Given the description of an element on the screen output the (x, y) to click on. 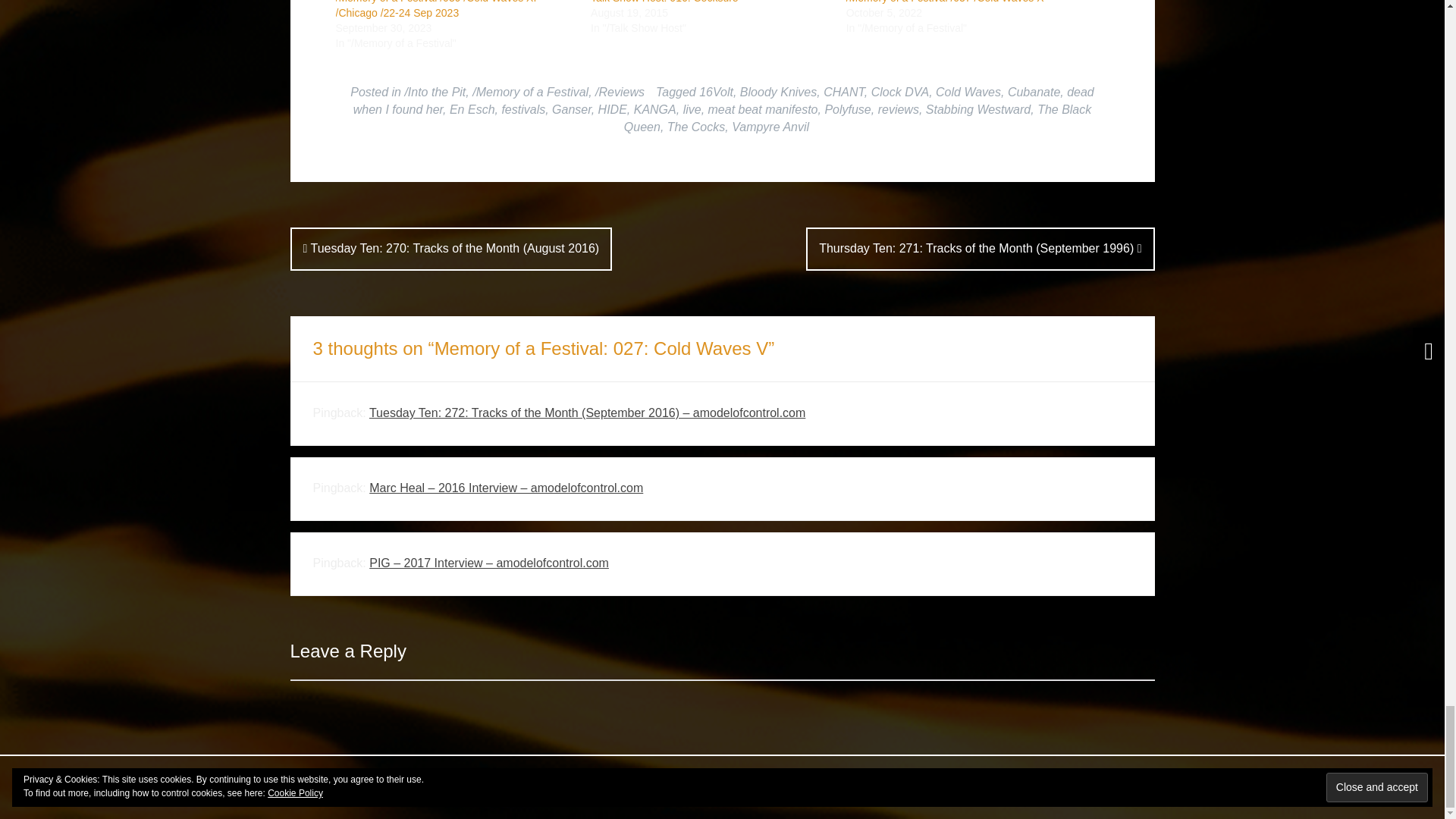
 Back to top (1120, 787)
